Given the description of an element on the screen output the (x, y) to click on. 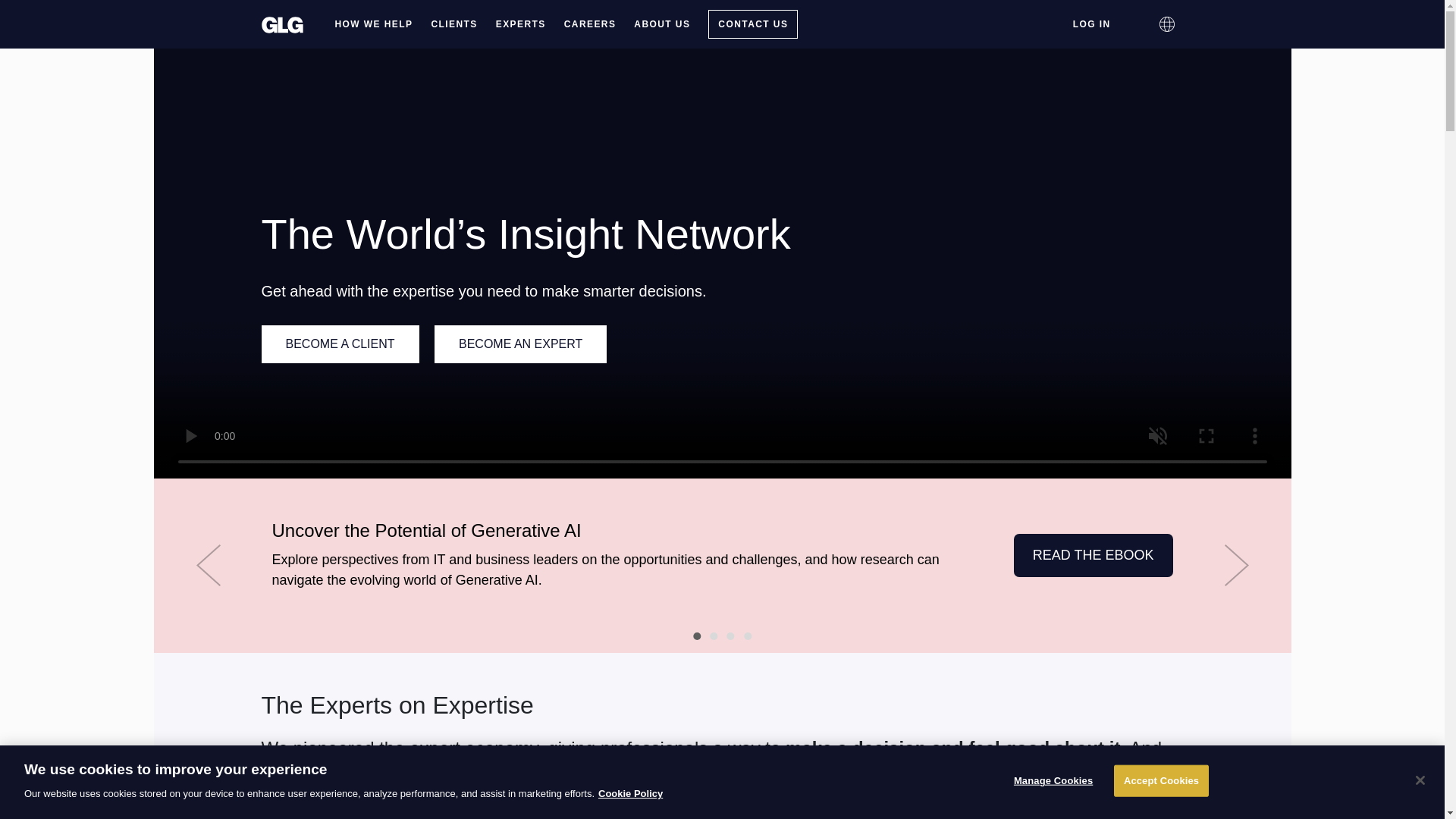
HOW WE HELP (374, 23)
CAREERS (590, 23)
CLIENTS (454, 23)
EXPERTS (520, 23)
